Given the description of an element on the screen output the (x, y) to click on. 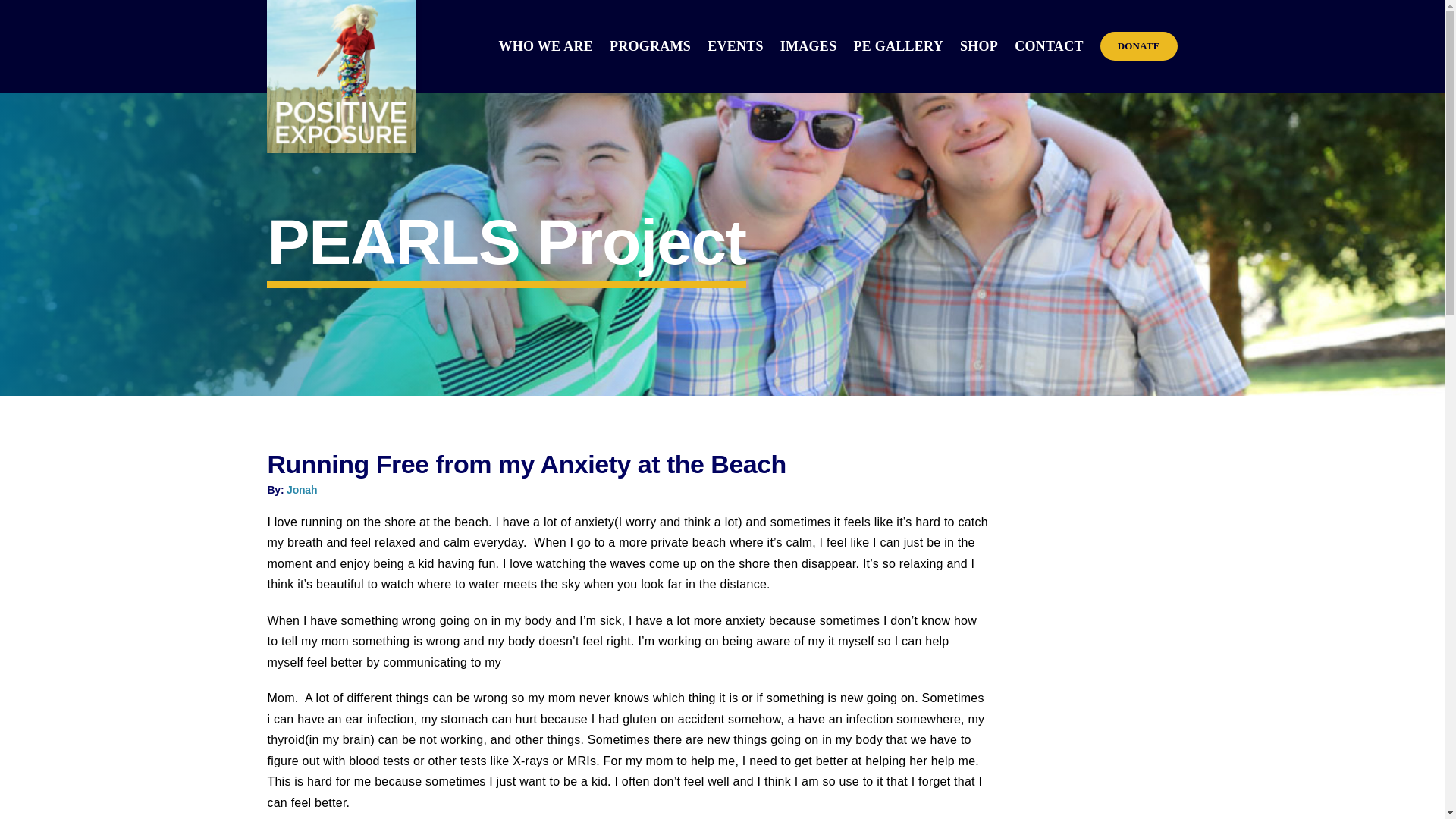
PE GALLERY (898, 46)
CONTACT (1048, 46)
Jonah (301, 490)
PROGRAMS (650, 46)
WHO WE ARE (545, 46)
SHOP (978, 46)
DONATE (1138, 46)
IMAGES (808, 46)
Jonah (301, 490)
EVENTS (734, 46)
